Given the description of an element on the screen output the (x, y) to click on. 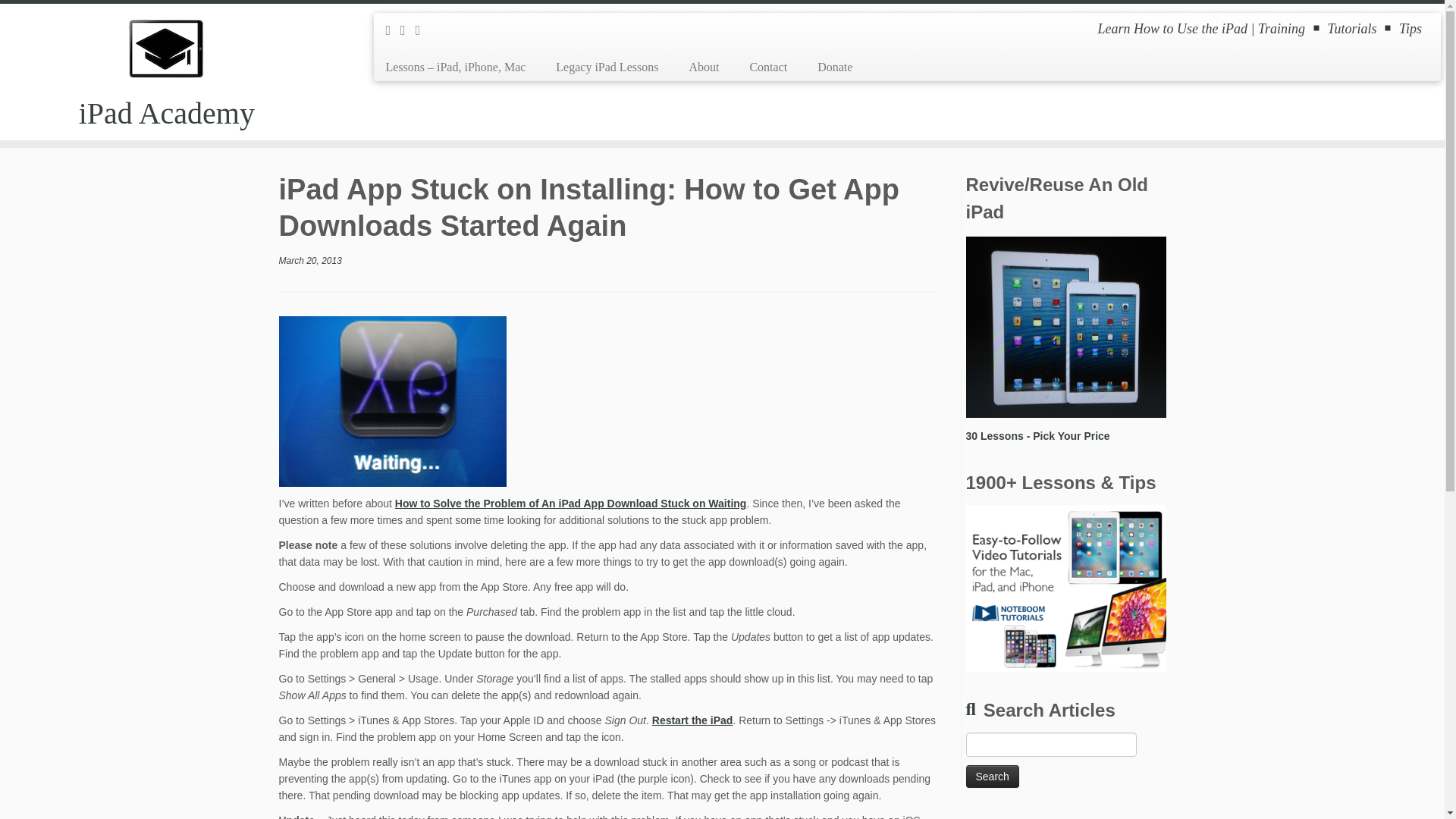
app stuck on waiting (392, 399)
Legacy iPad Lessons (606, 67)
30 Lessons - Pick Your Price (1037, 435)
Restart the iPad (692, 720)
Search (992, 775)
Article link (570, 503)
Follow me on Twitter (407, 29)
Donate (826, 67)
Search (992, 775)
iPad Academy (166, 113)
March 20, 2013 (310, 260)
Contact (767, 67)
Link to iPad Academy article (692, 720)
About (702, 67)
11:54 am (310, 260)
